Given the description of an element on the screen output the (x, y) to click on. 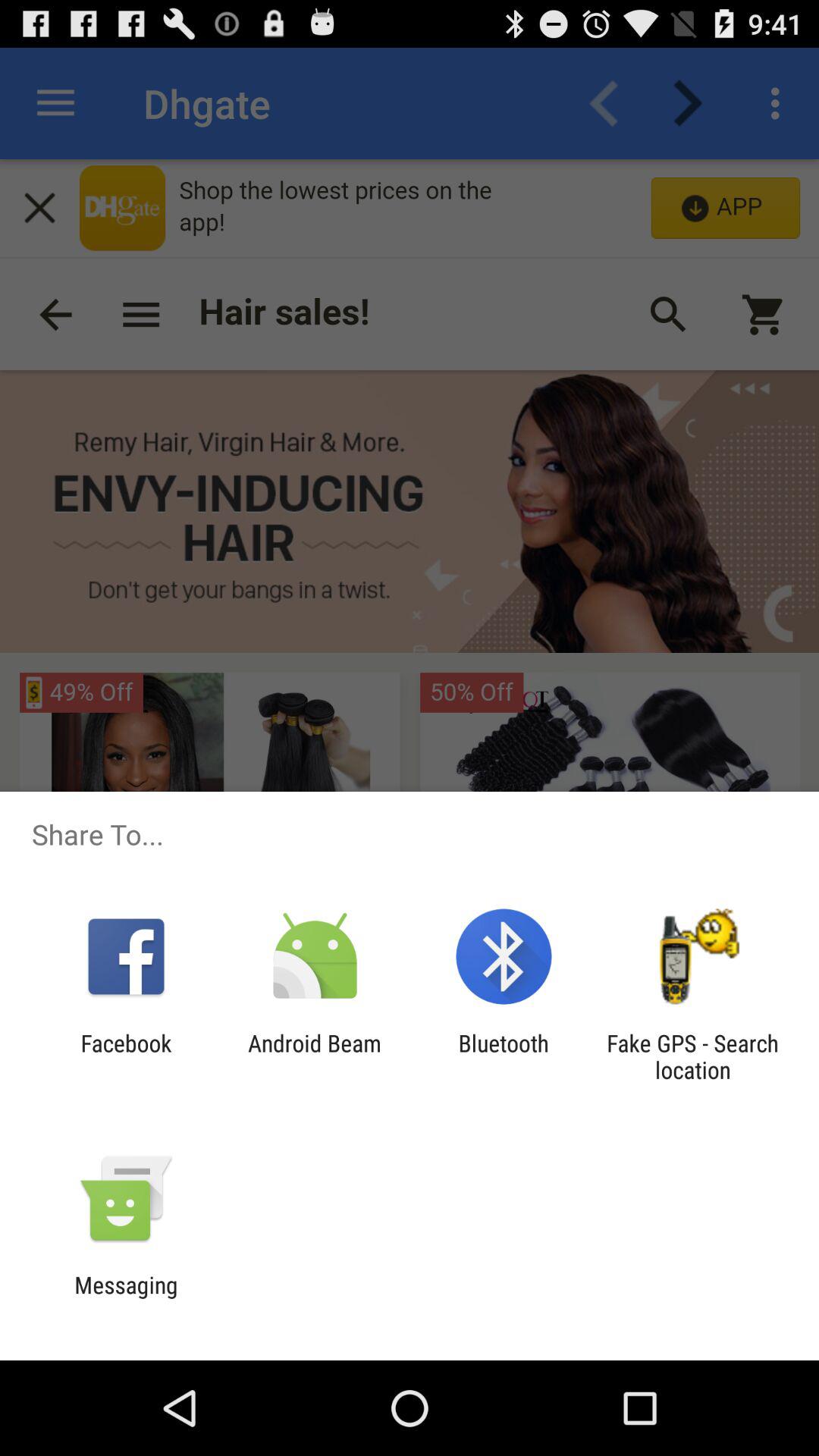
open icon next to the android beam icon (503, 1056)
